Given the description of an element on the screen output the (x, y) to click on. 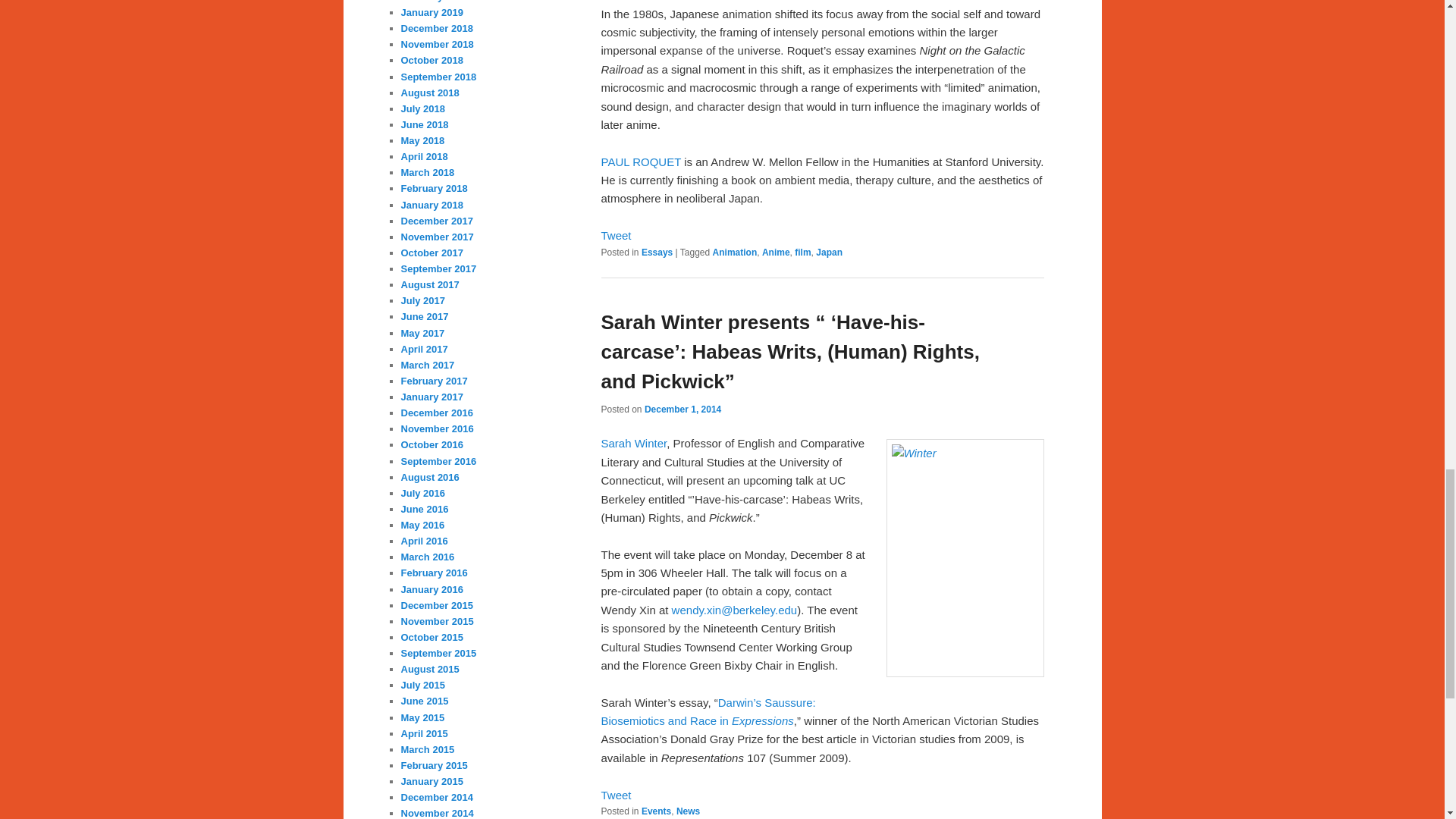
PAUL ROQUET (640, 161)
6:34 pm (682, 409)
Anime (775, 252)
Tweet (614, 235)
Essays (657, 252)
Animation (735, 252)
